Given the description of an element on the screen output the (x, y) to click on. 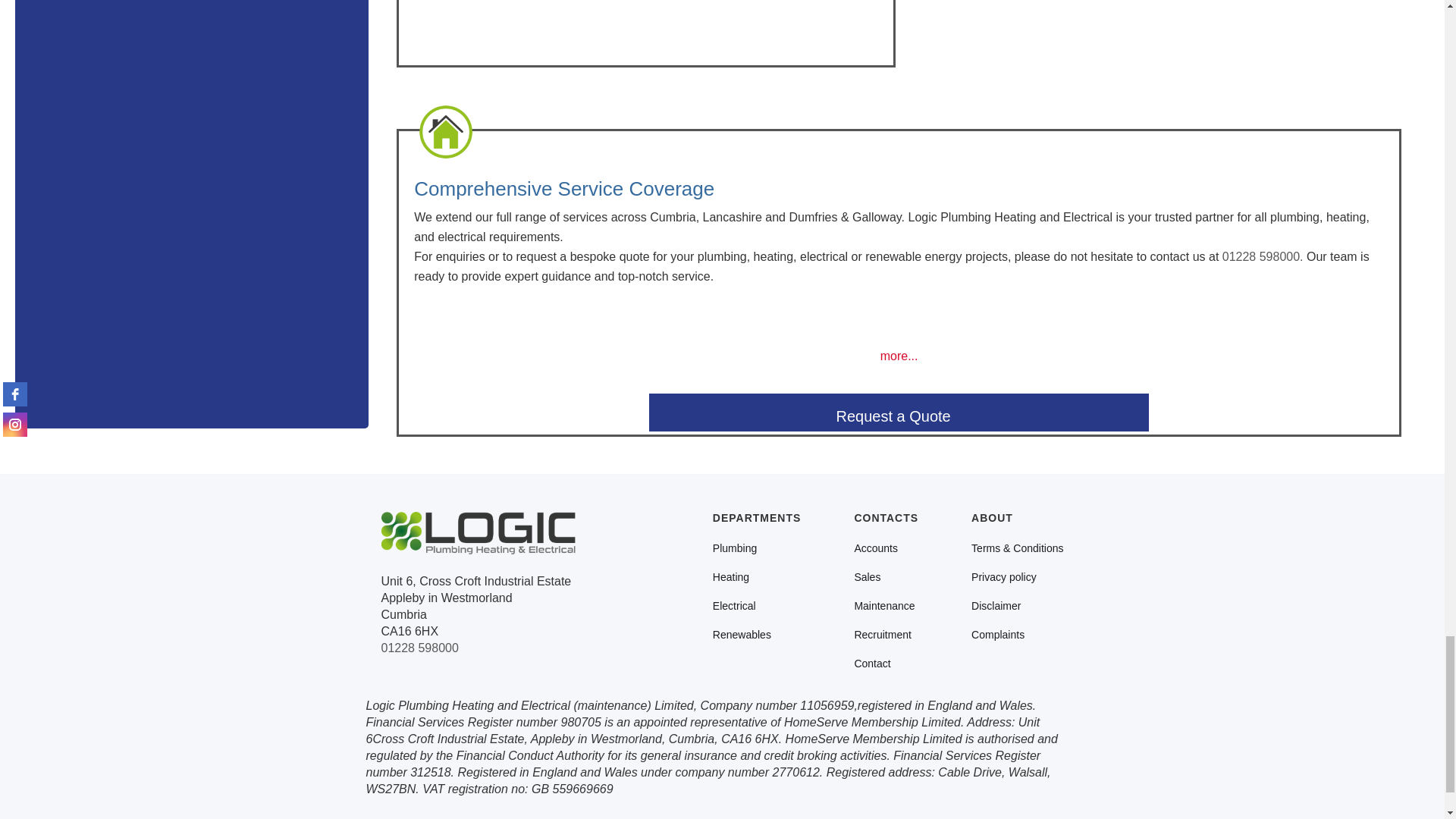
Heating (731, 578)
01228 598000 (419, 647)
01228 598000. (1264, 256)
Plumbing (735, 549)
more... (899, 355)
Request a Quote (898, 412)
